Given the description of an element on the screen output the (x, y) to click on. 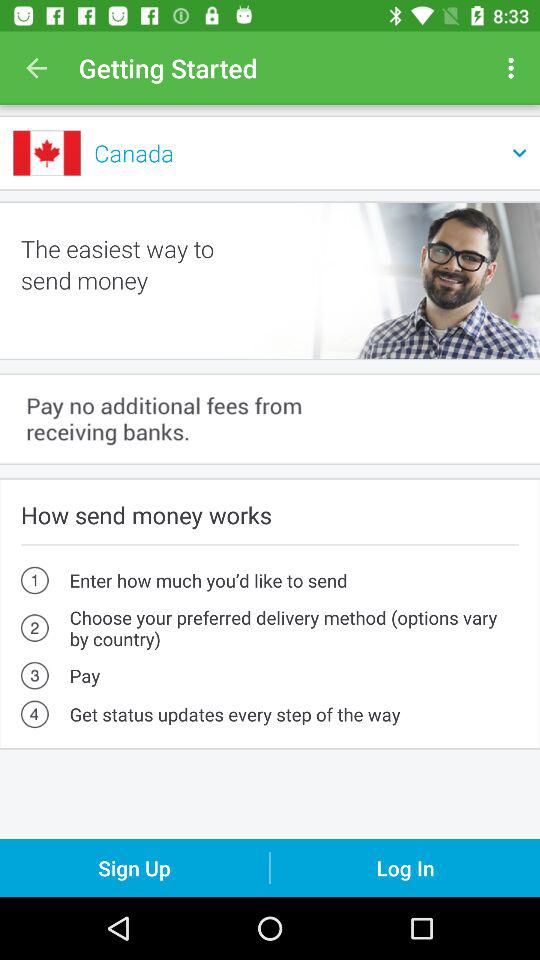
tap icon at the bottom right corner (405, 867)
